Given the description of an element on the screen output the (x, y) to click on. 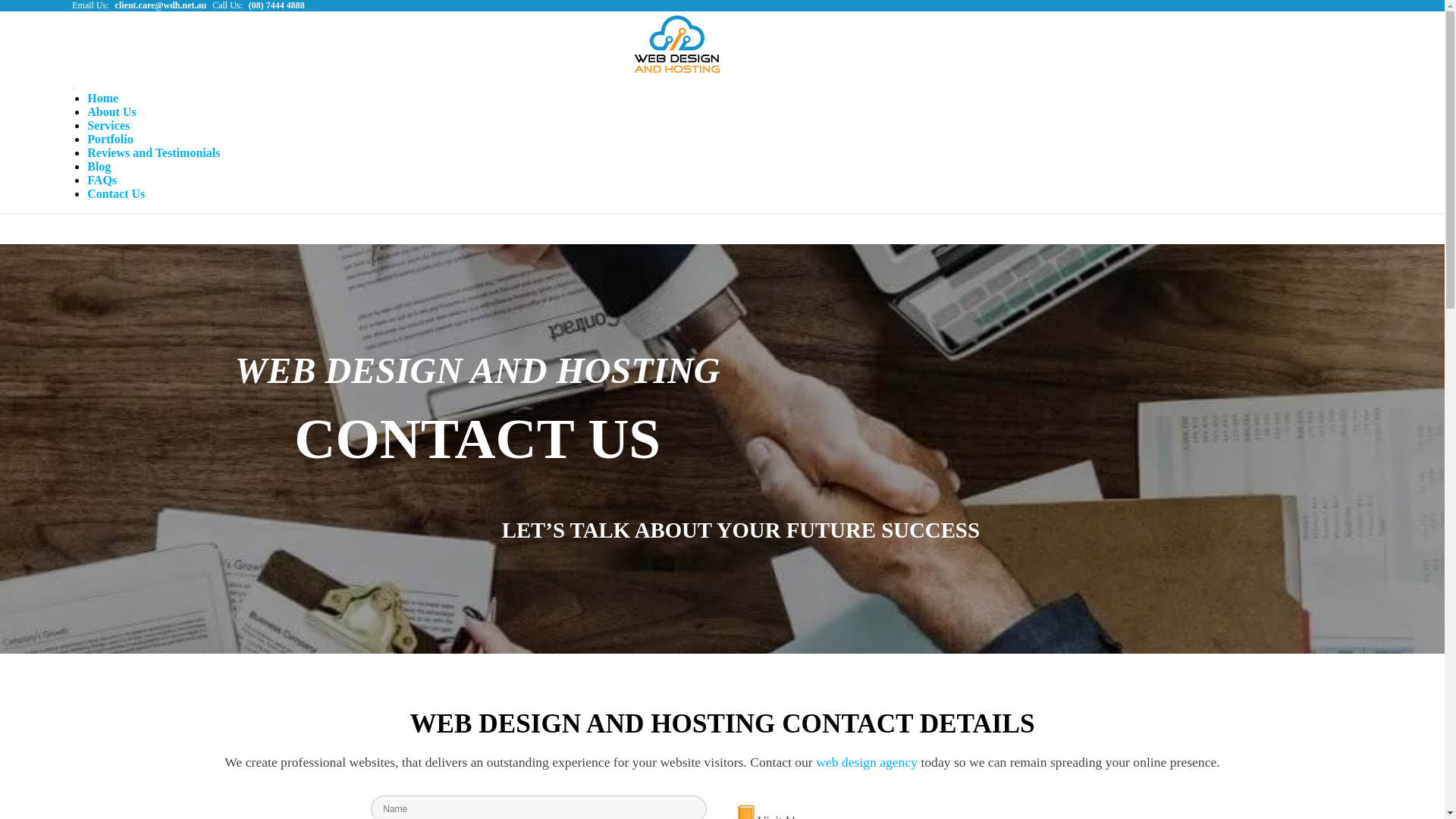
Services Element type: text (108, 125)
Twitter Element type: hover (1292, 23)
Facebook Element type: hover (1338, 23)
About Us Element type: text (111, 111)
FAQs Element type: text (101, 179)
Instagram Element type: hover (1315, 23)
(08) 7444 4888 Element type: text (276, 5)
Pinterest Element type: hover (1360, 23)
Contact Us Element type: text (115, 193)
Portfolio Element type: text (109, 138)
Reviews and Testimonials Element type: text (153, 152)
Blog Element type: text (98, 166)
Home Element type: text (102, 97)
client.care@wdh.net.au Element type: text (160, 5)
web design agency Element type: text (866, 761)
